Given the description of an element on the screen output the (x, y) to click on. 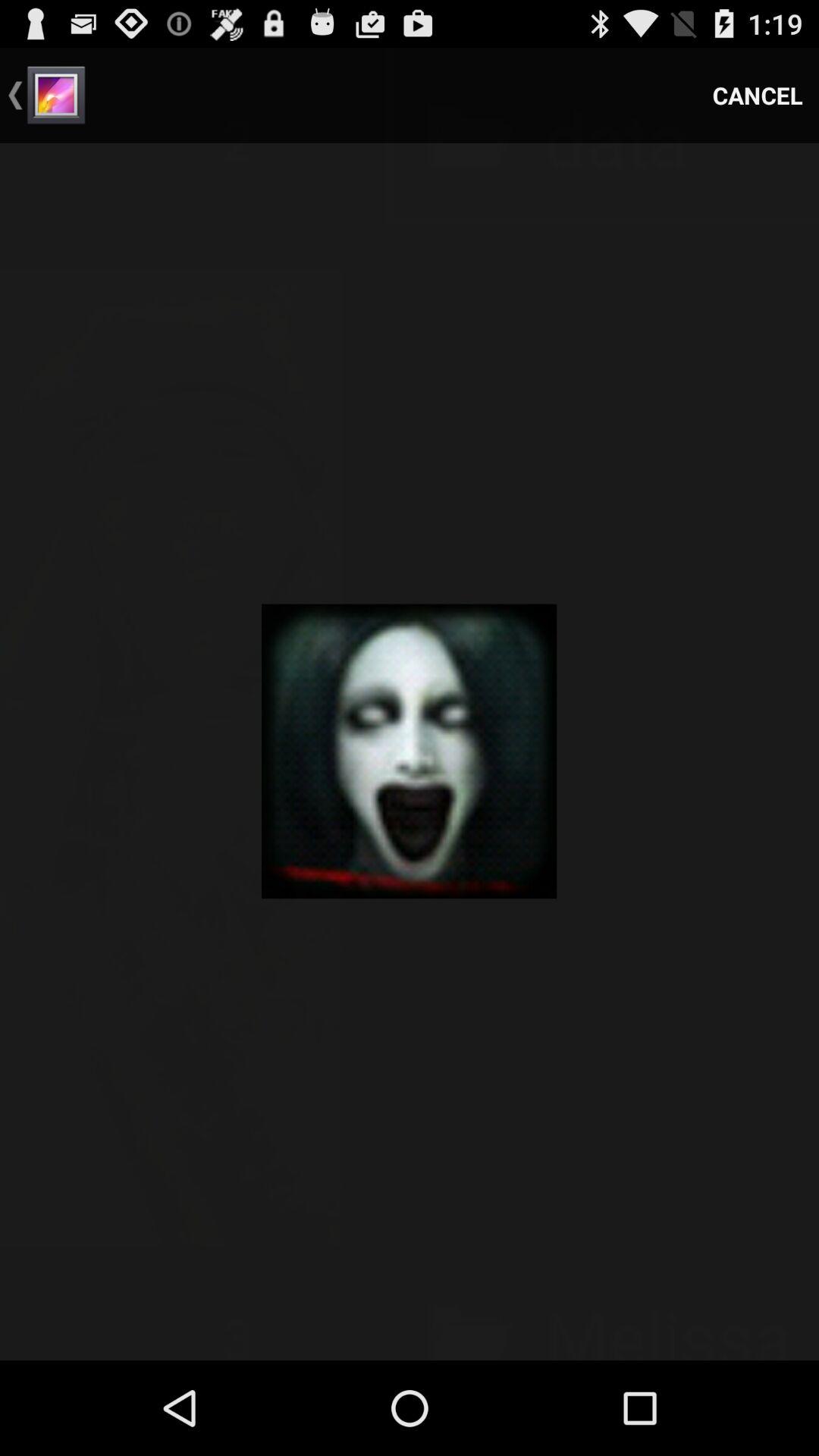
turn on icon at the top right corner (757, 95)
